Given the description of an element on the screen output the (x, y) to click on. 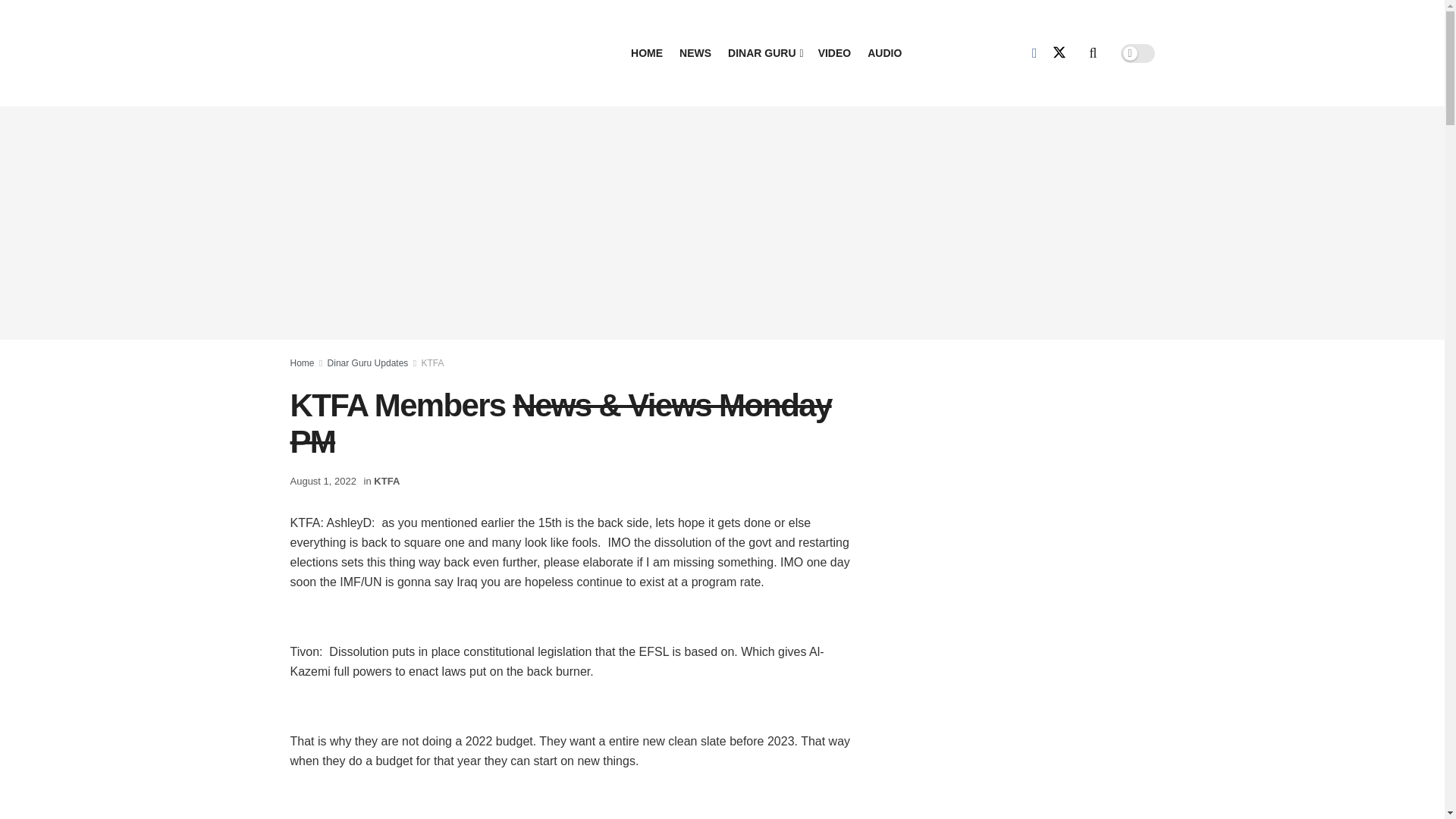
AUDIO (884, 52)
DINAR GURU (765, 52)
HOME (646, 52)
NEWS (695, 52)
VIDEO (834, 52)
